Given the description of an element on the screen output the (x, y) to click on. 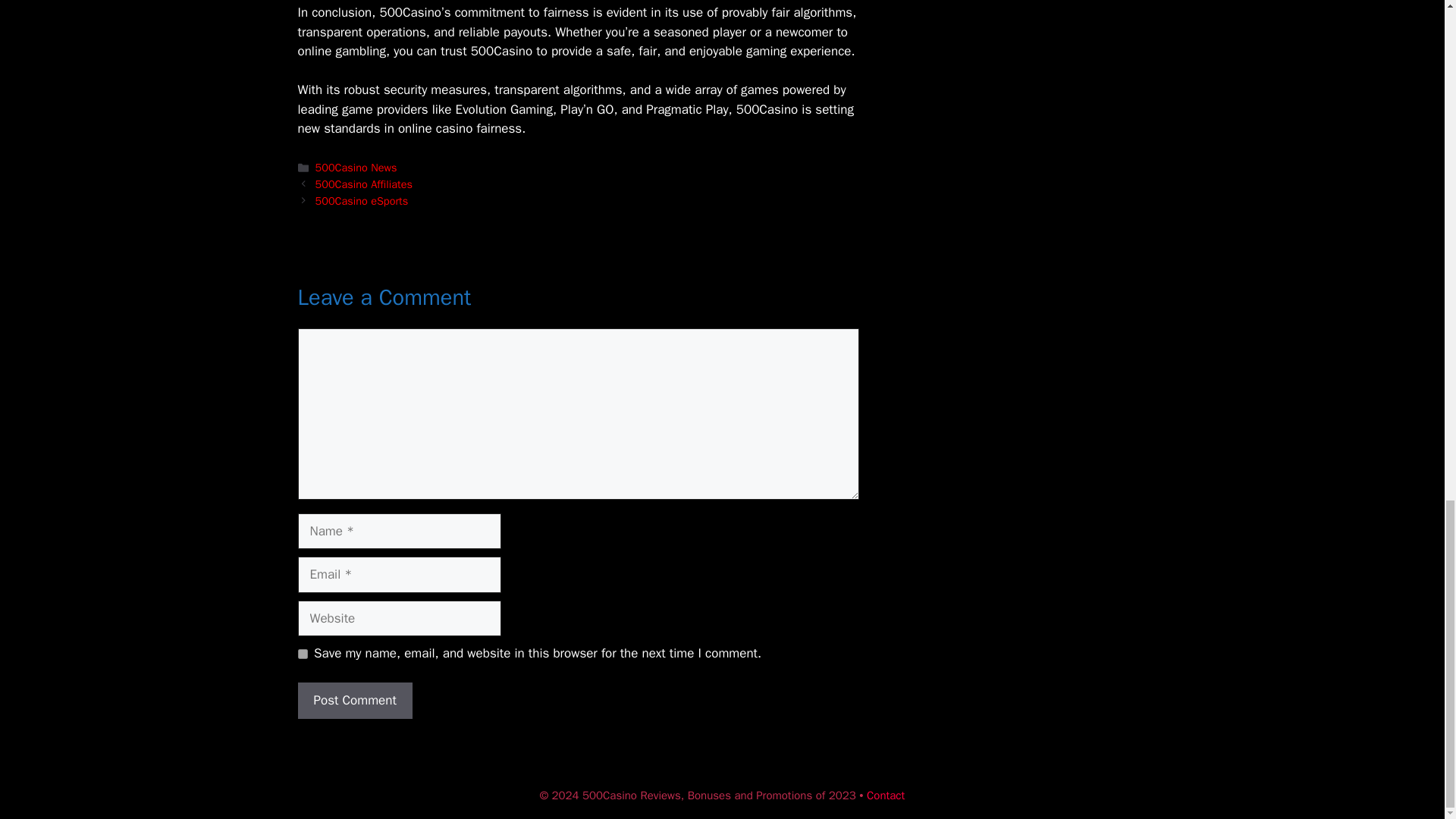
yes (302, 654)
Post Comment (354, 700)
Contact (885, 795)
500Casino eSports (362, 201)
Post Comment (354, 700)
500Casino News (356, 167)
500Casino Affiliates (363, 183)
